Given the description of an element on the screen output the (x, y) to click on. 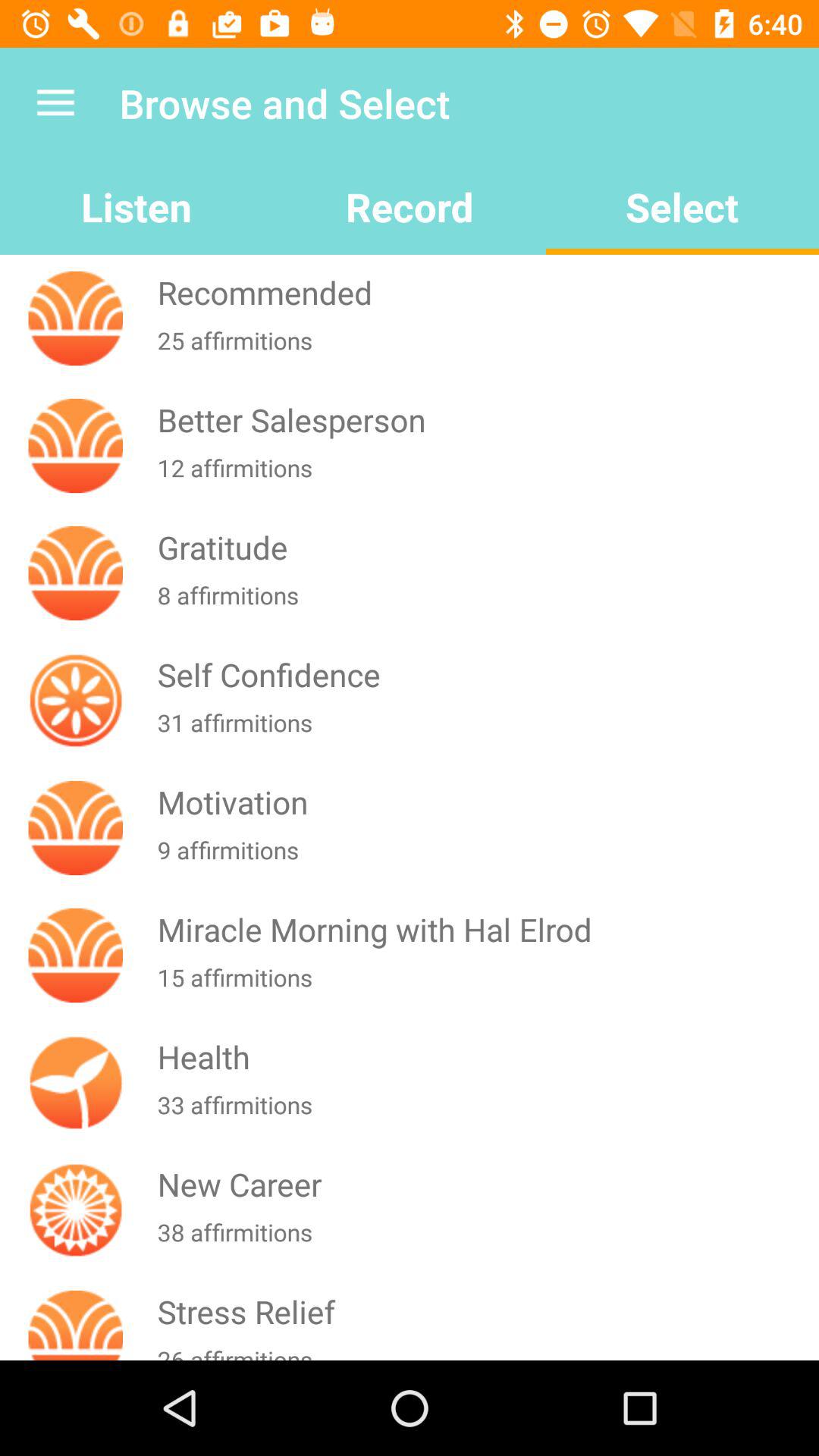
turn off the icon below the recommended icon (484, 349)
